Given the description of an element on the screen output the (x, y) to click on. 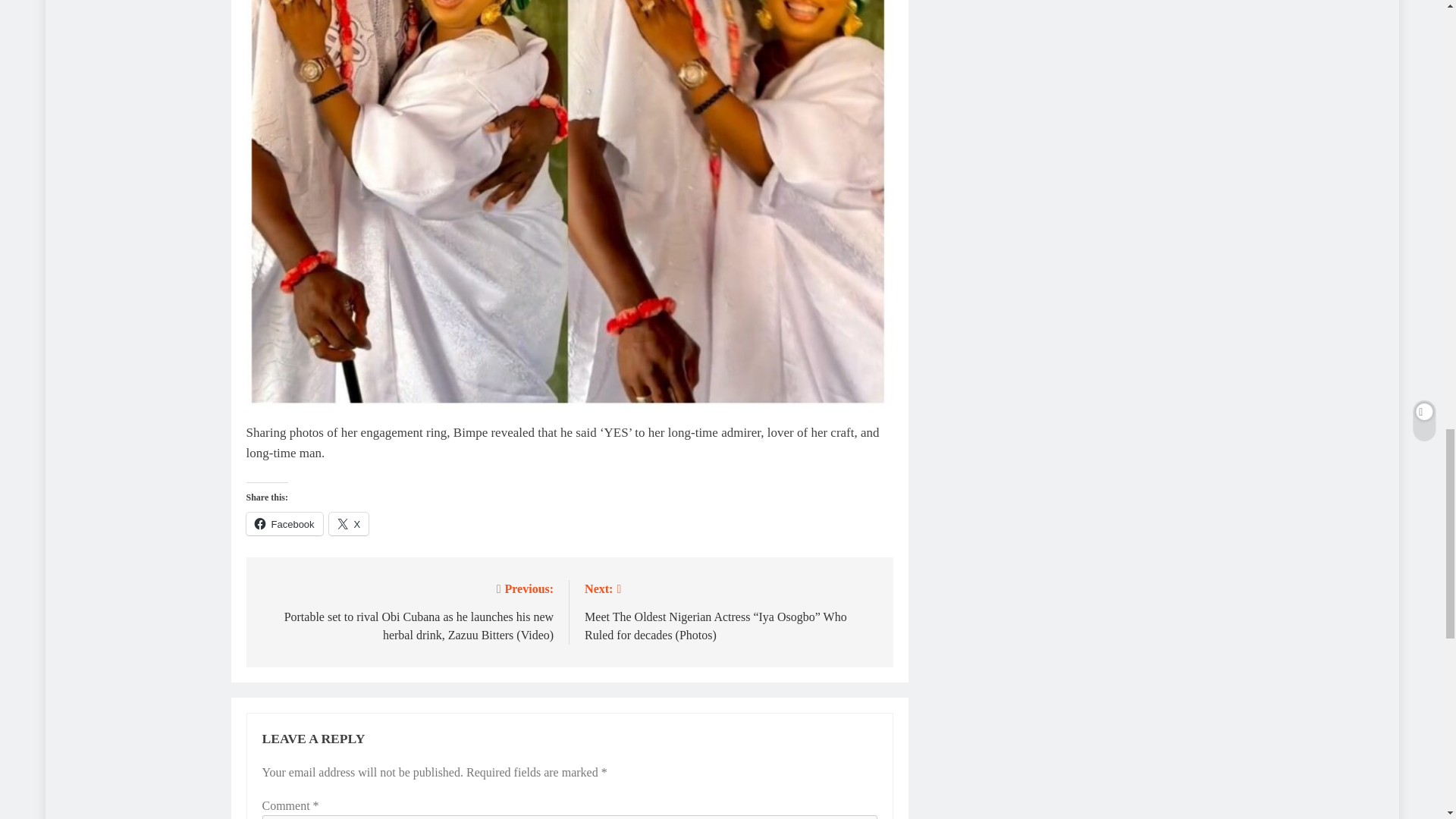
Click to share on Facebook (283, 523)
Facebook (283, 523)
Click to share on X (349, 523)
X (349, 523)
